Given the description of an element on the screen output the (x, y) to click on. 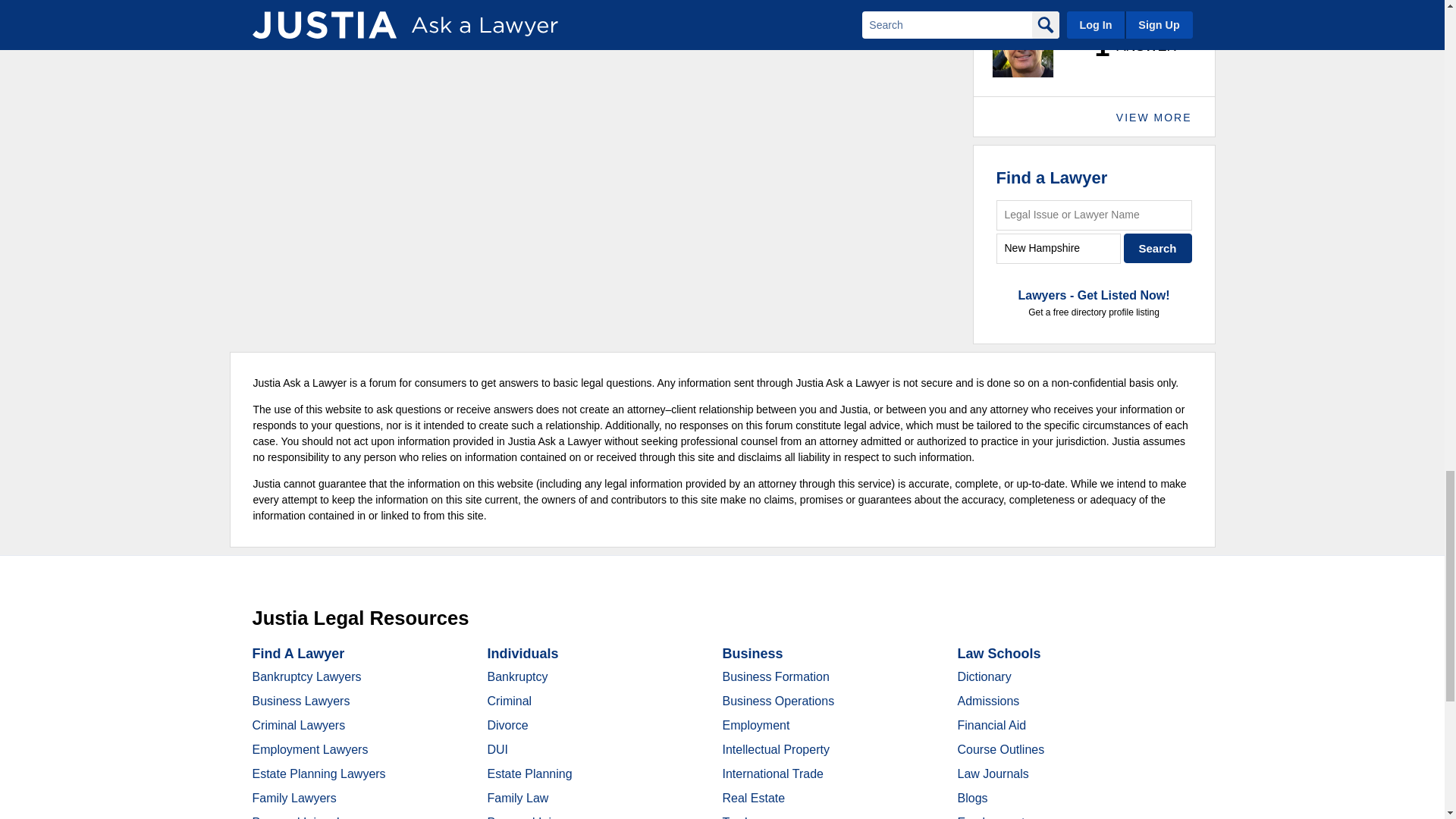
Search (1158, 247)
Ask a Lawyer - Leaderboard - Lawyer Stats (1127, 46)
Legal Issue or Lawyer Name (1093, 214)
City, State (1058, 247)
Ask a Lawyer - Leaderboard - Lawyer Name (1071, 5)
Search (1158, 247)
New Hampshire (1058, 247)
Ask a Lawyer - Leaderboard - Lawyer Photo (1021, 46)
